Given the description of an element on the screen output the (x, y) to click on. 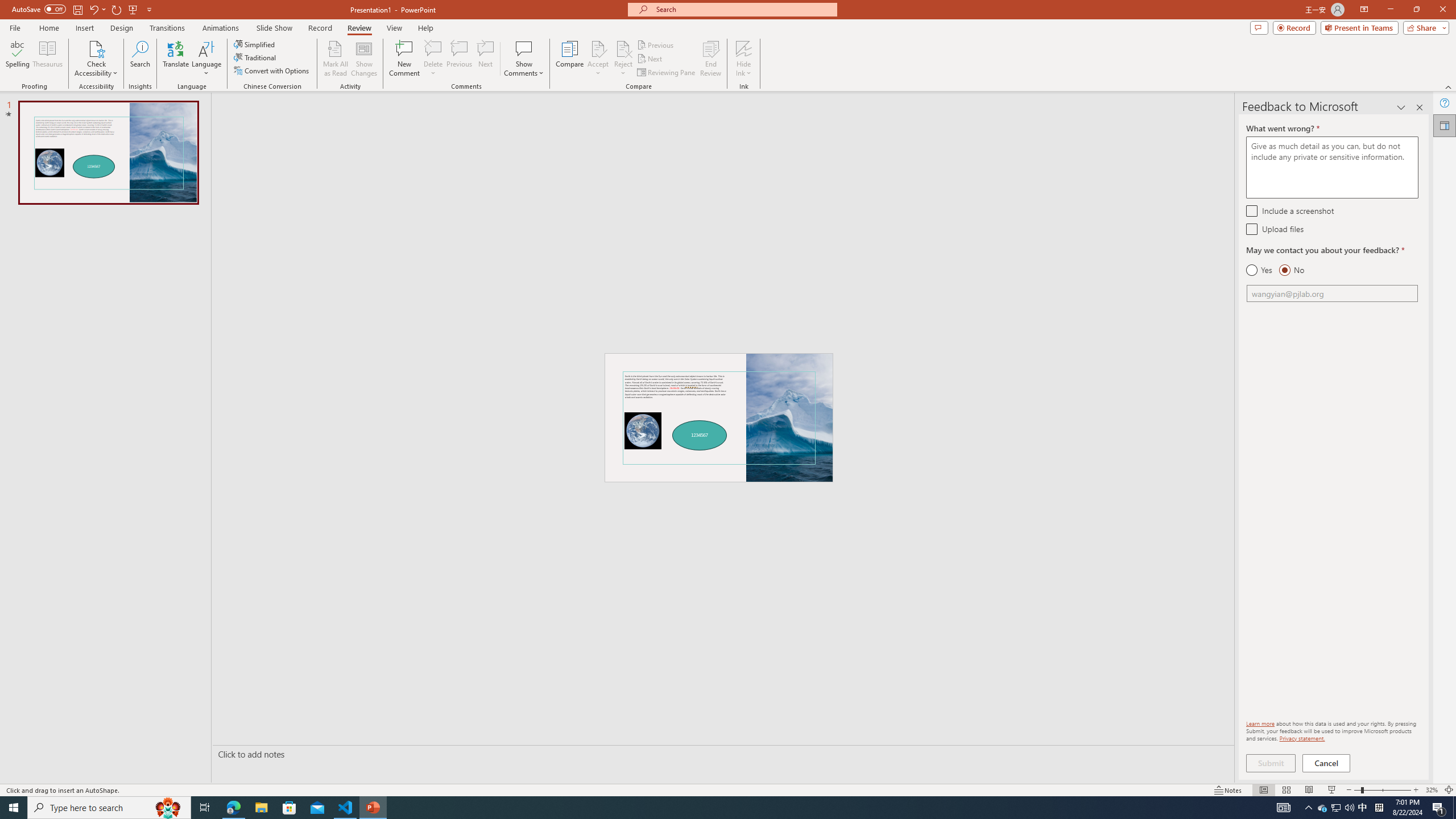
Cancel (1327, 763)
Accept Change (598, 48)
Delete (432, 58)
New Comment (403, 58)
Check Accessibility (95, 48)
Delete (432, 48)
